Given the description of an element on the screen output the (x, y) to click on. 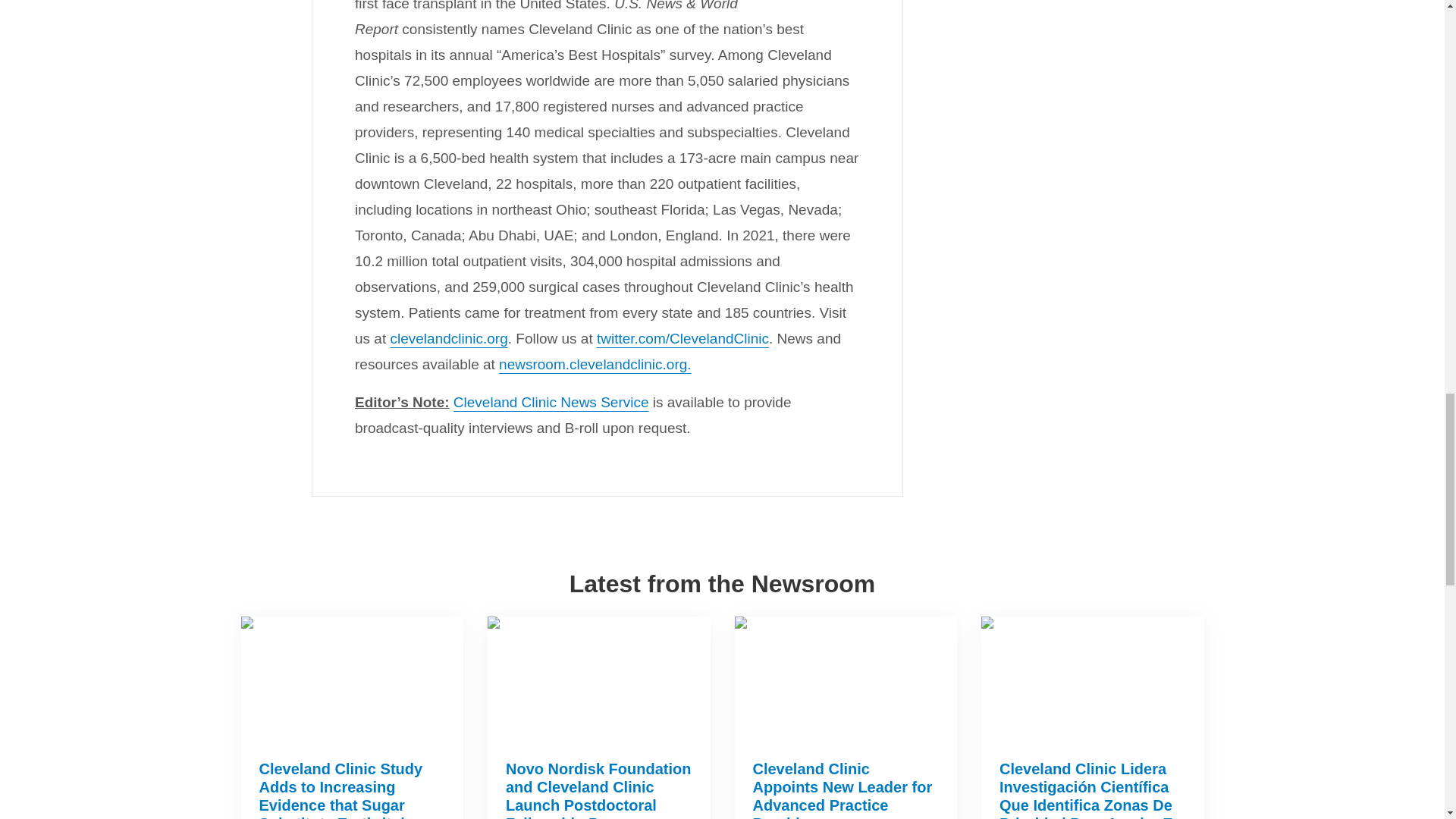
newsroom.clevelandclinic.org. (594, 364)
clevelandclinic.org (448, 338)
Cleveland Clinic News Service (550, 401)
